Given the description of an element on the screen output the (x, y) to click on. 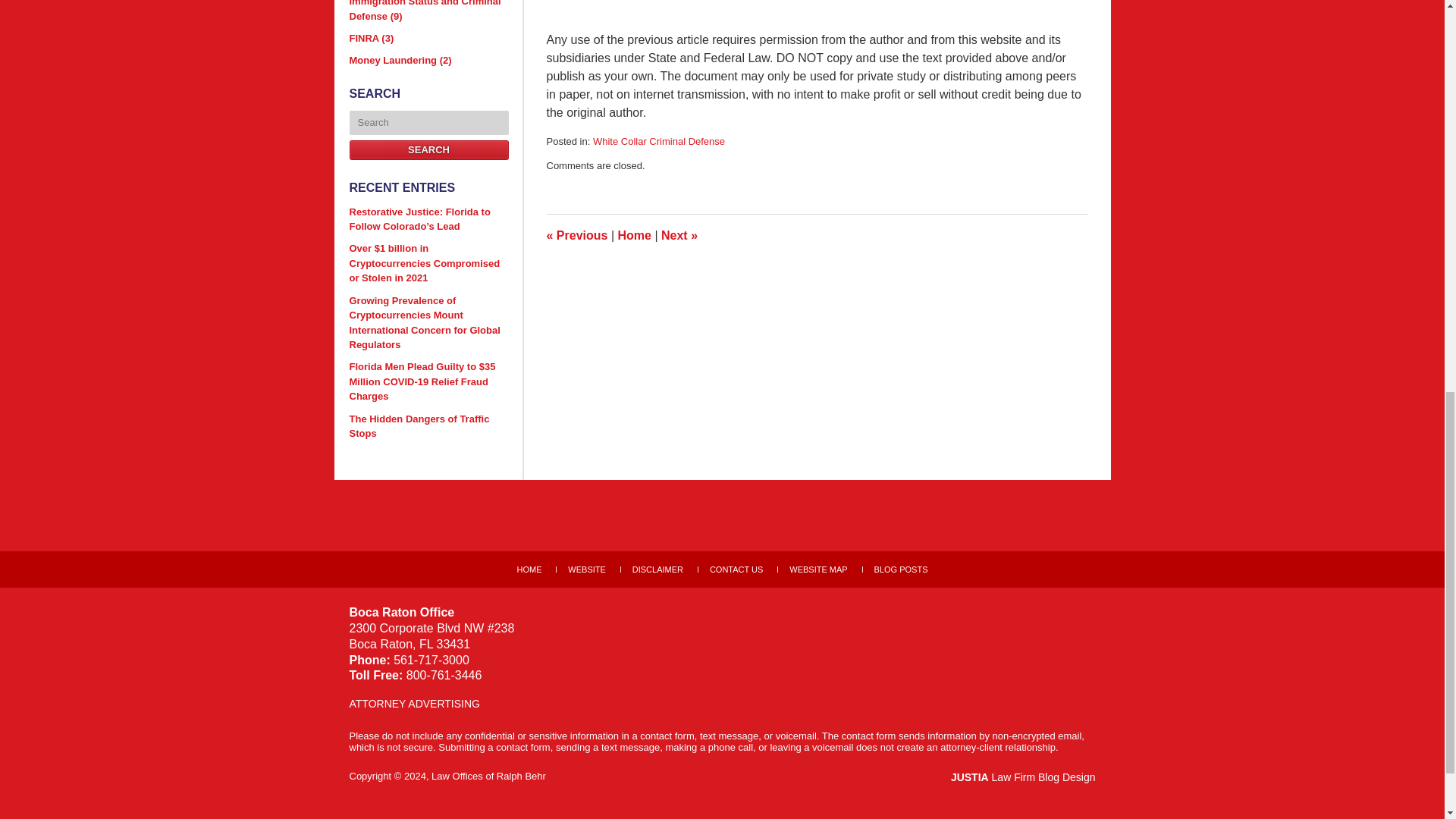
Home (633, 235)
View all posts in White Collar Criminal Defense (658, 141)
Florida Man Pleads Guilty To Sex-Related Offense (576, 235)
White Collar Criminal Defense (658, 141)
Florida Police Can Lie To You (679, 235)
